Given the description of an element on the screen output the (x, y) to click on. 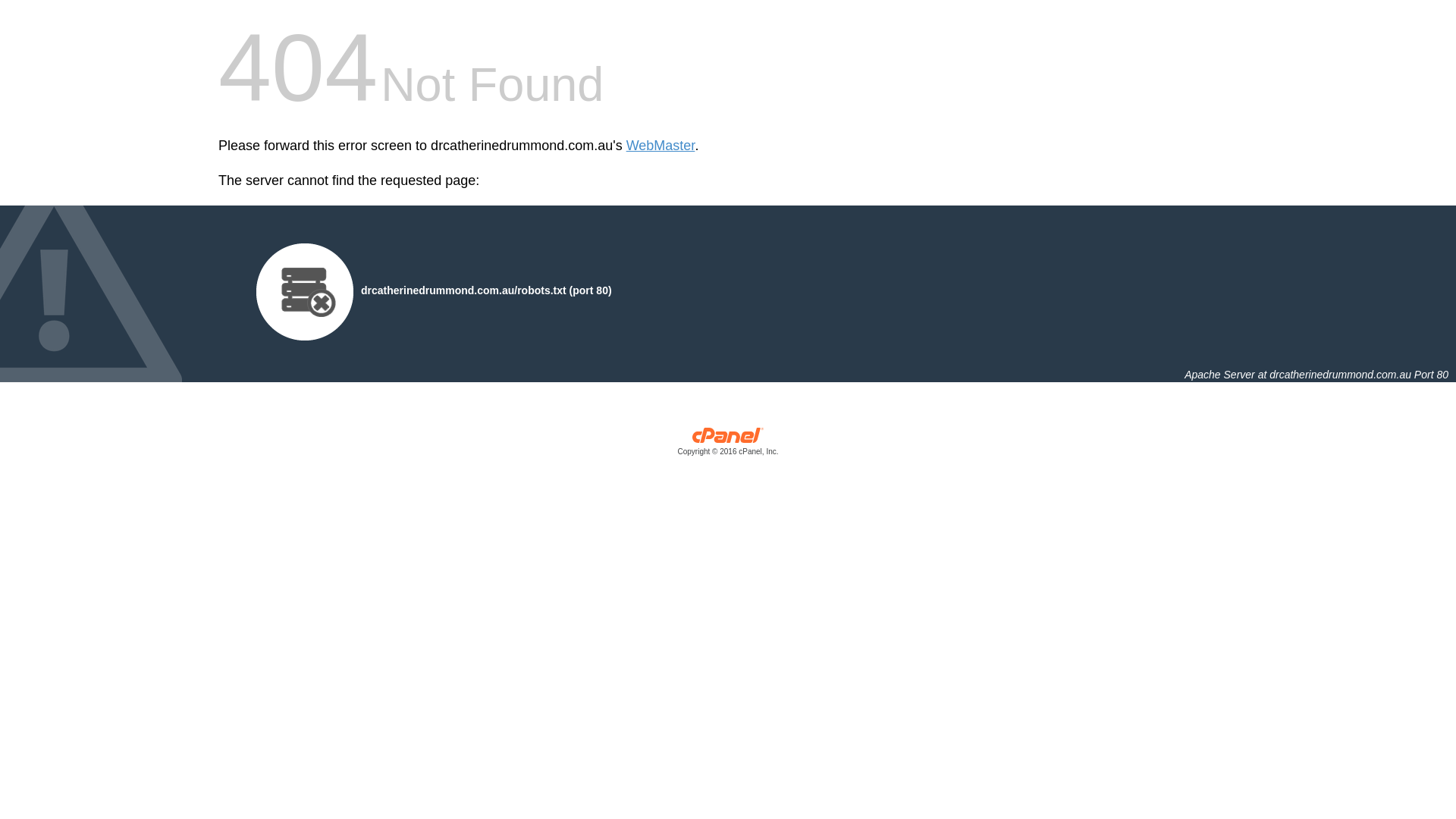
WebMaster Element type: text (660, 145)
